Given the description of an element on the screen output the (x, y) to click on. 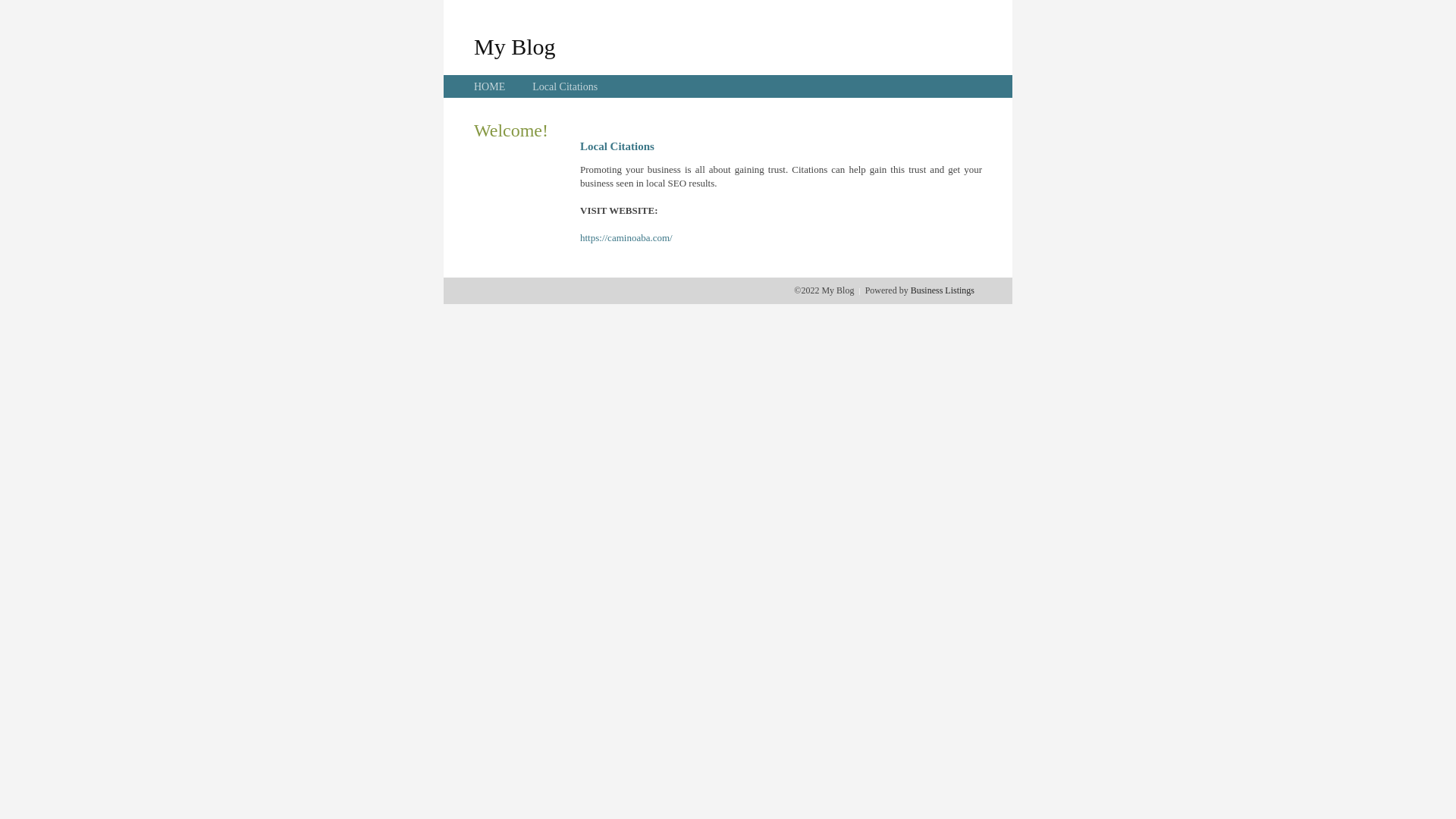
Local Citations Element type: text (564, 86)
https://caminoaba.com/ Element type: text (626, 237)
HOME Element type: text (489, 86)
Business Listings Element type: text (942, 290)
My Blog Element type: text (514, 46)
